Given the description of an element on the screen output the (x, y) to click on. 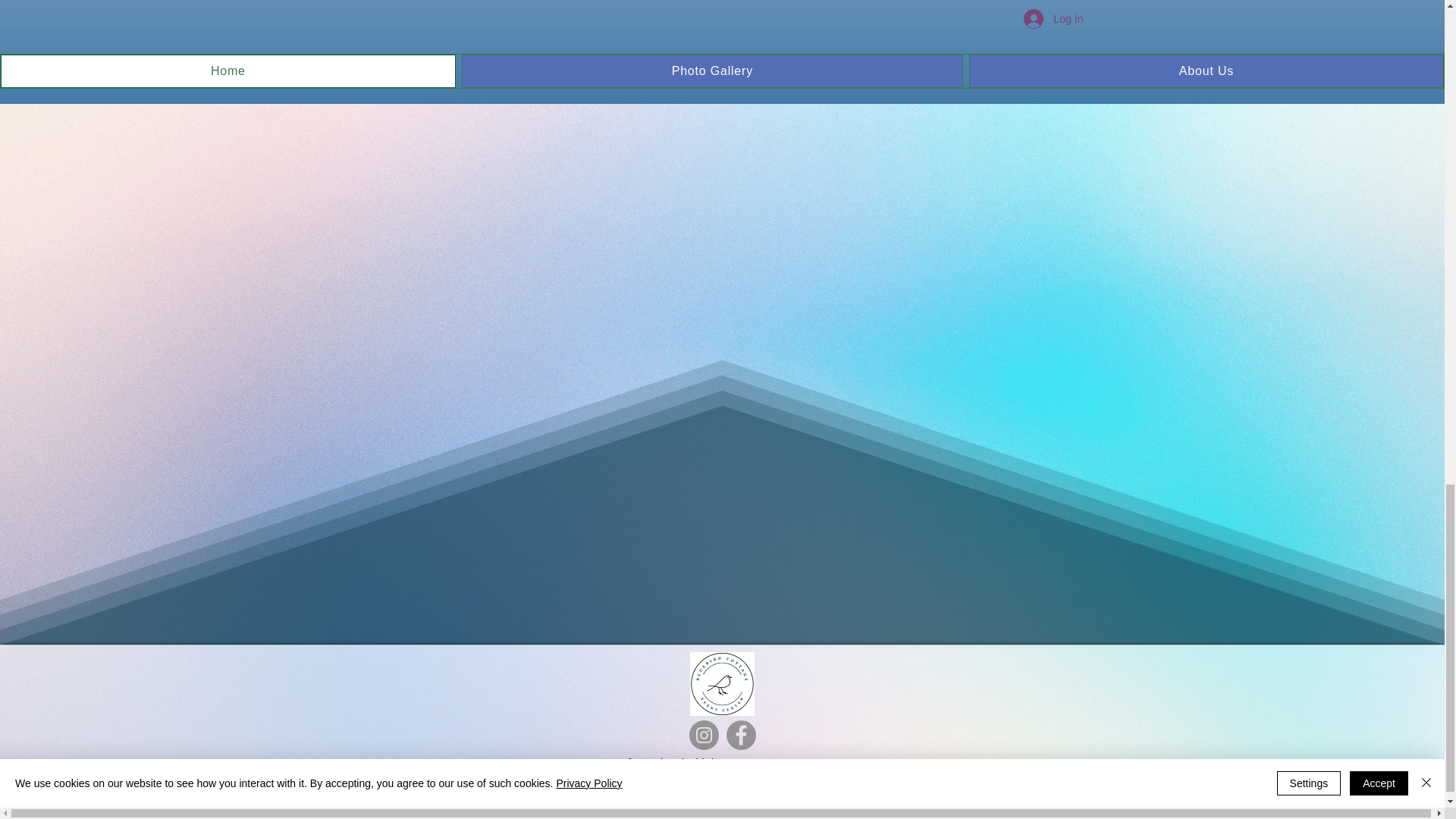
bluebird logo (722, 683)
Do Not Sell My Personal Information (716, 800)
Our Privacy Policy (721, 781)
